Given the description of an element on the screen output the (x, y) to click on. 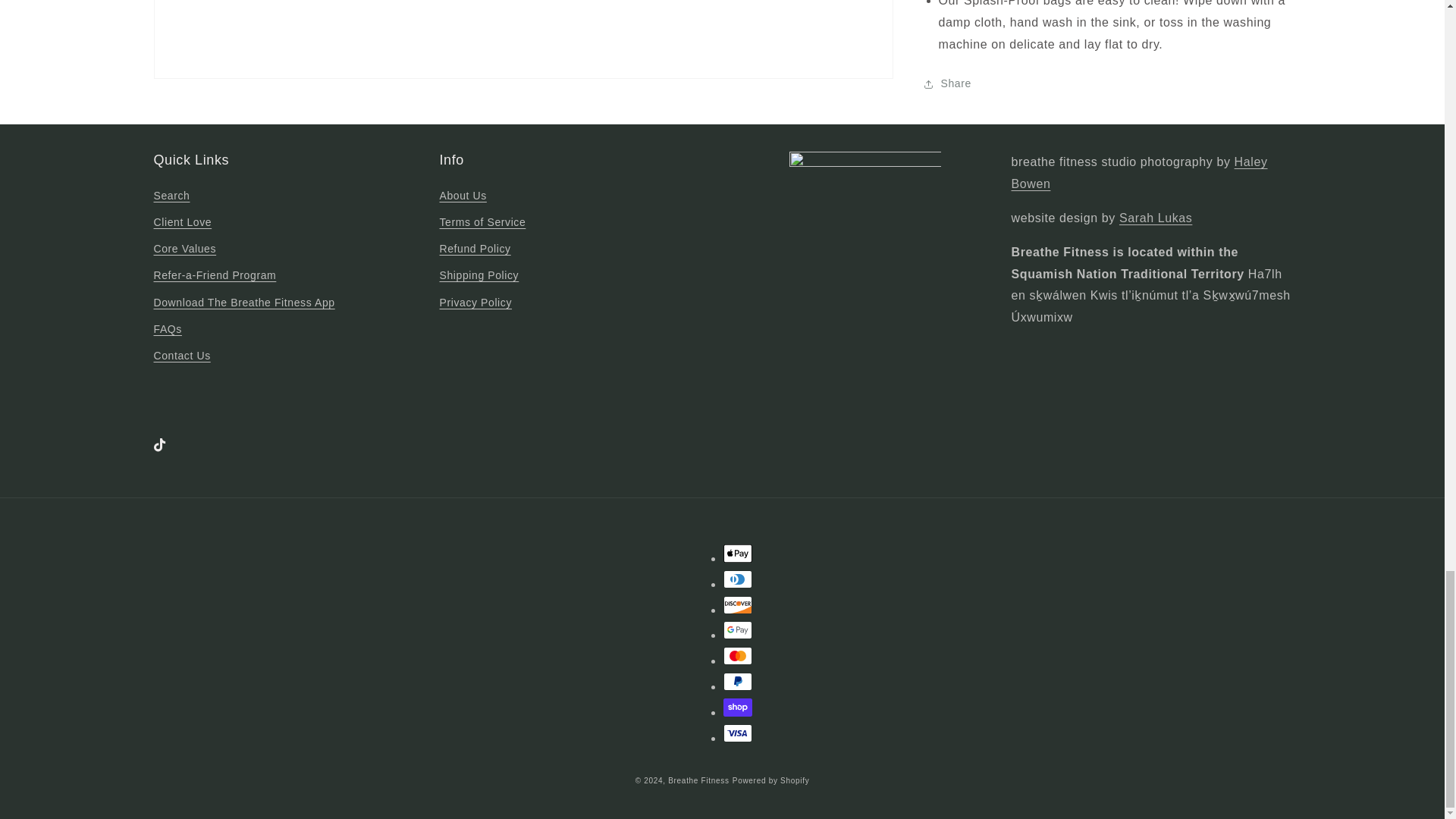
Visa (737, 732)
Apple Pay (737, 553)
Diners Club (737, 579)
Discover (737, 605)
Google Pay (737, 629)
PayPal (737, 681)
Shop Pay (737, 707)
Mastercard (737, 656)
